Given the description of an element on the screen output the (x, y) to click on. 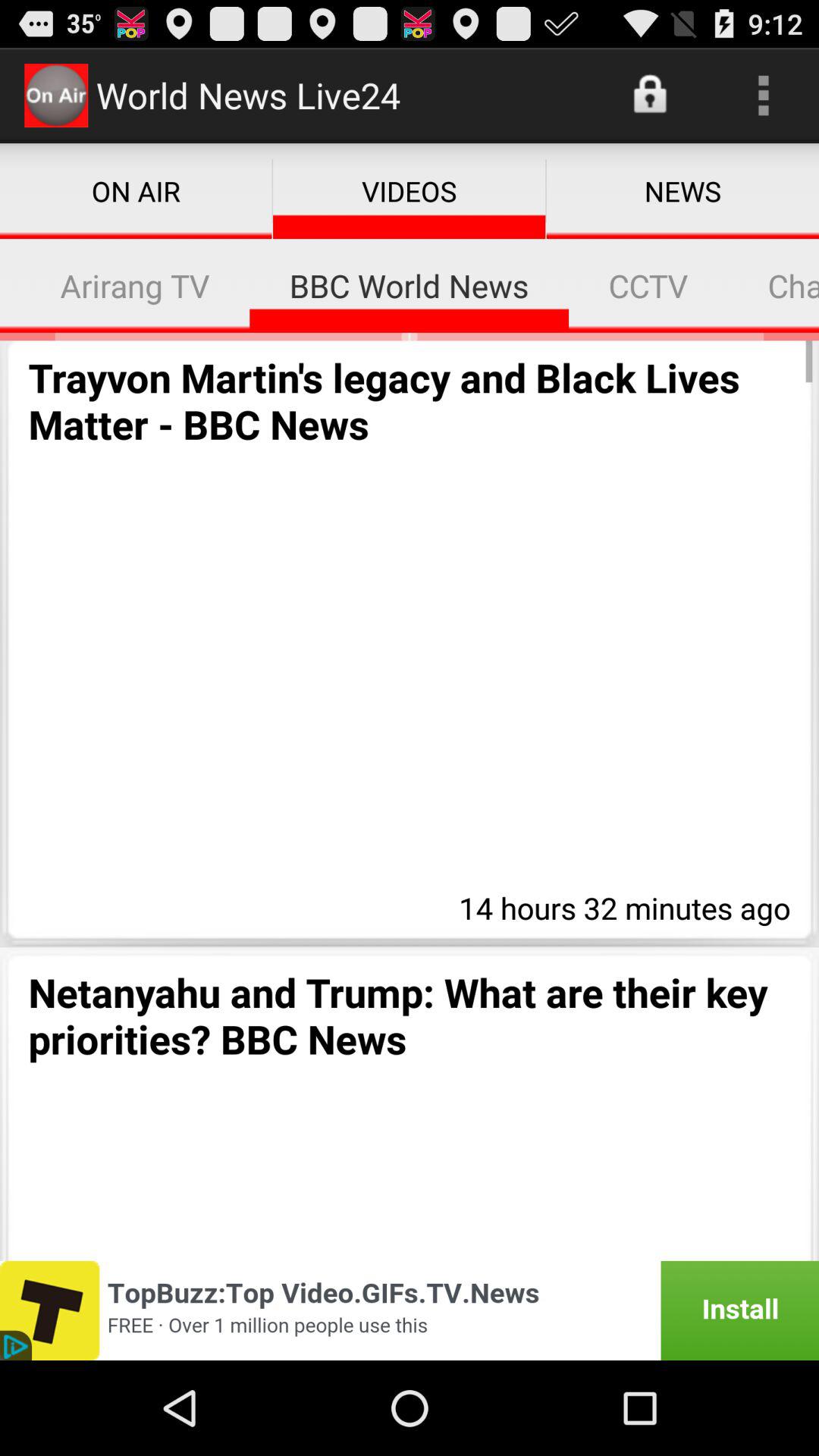
click icon to the left of the      bbc world news      item (134, 285)
